Given the description of an element on the screen output the (x, y) to click on. 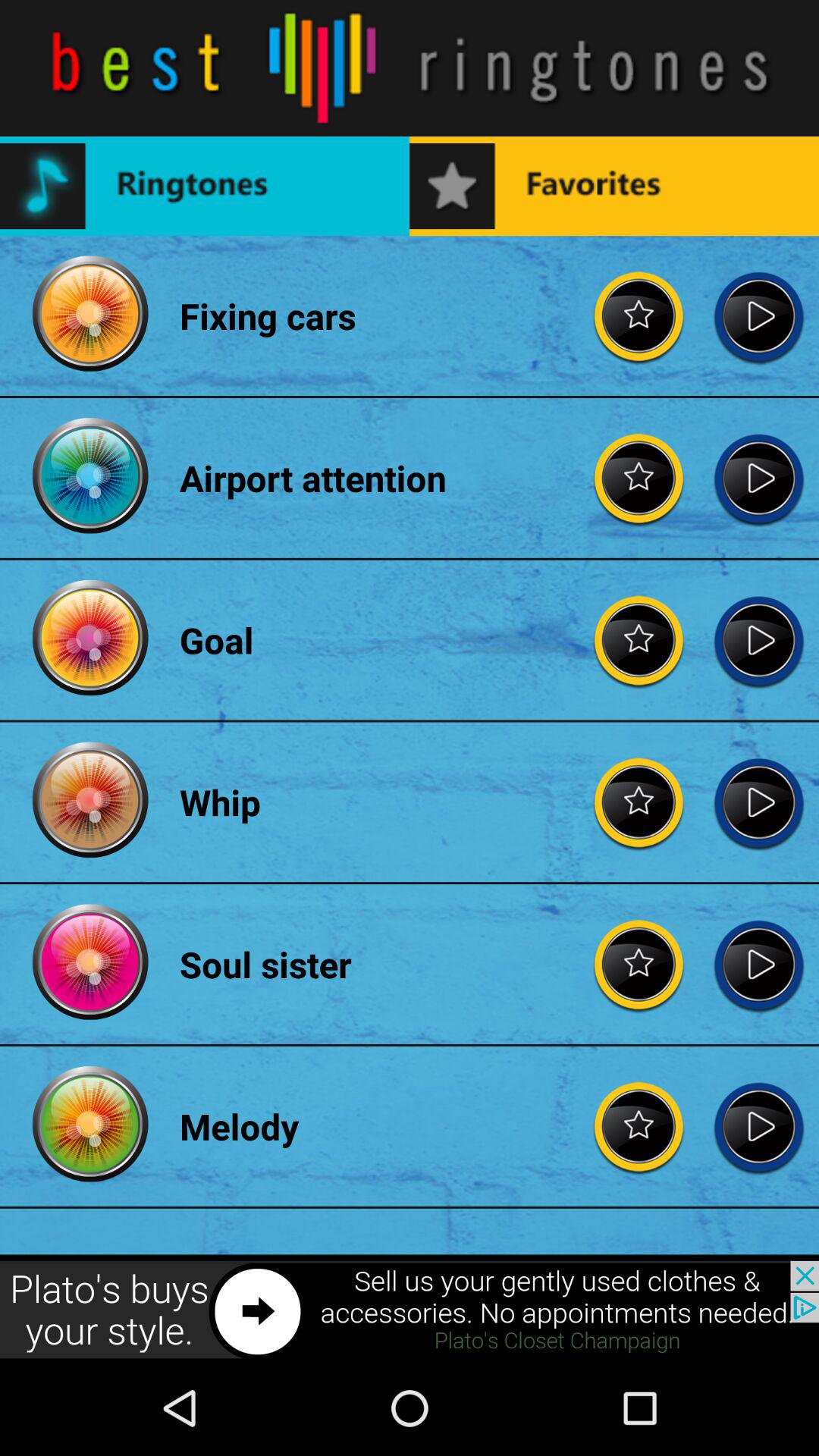
add ringtone to favorites (639, 964)
